Given the description of an element on the screen output the (x, y) to click on. 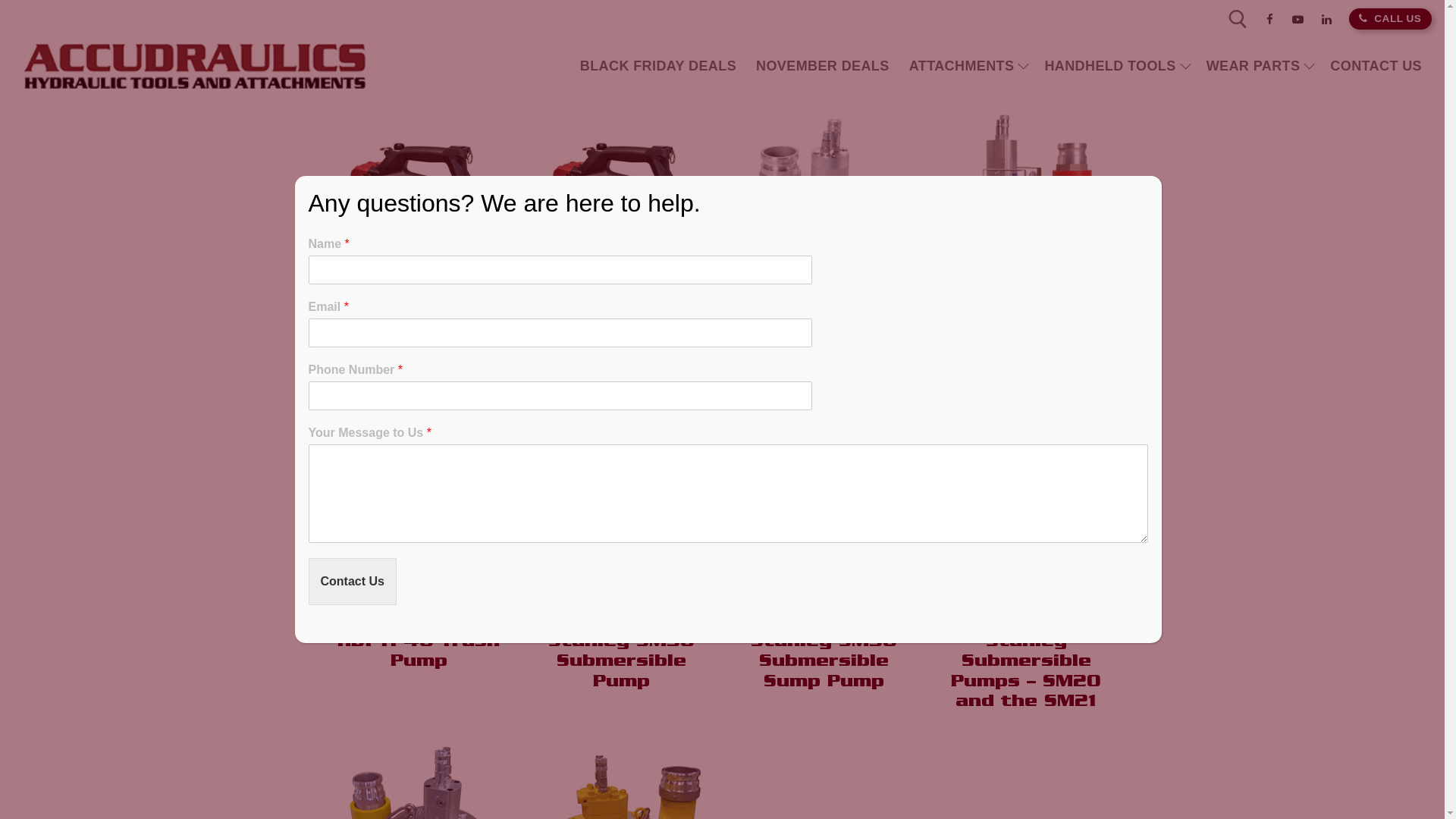
Facebook Element type: hover (1269, 19)
Youtube Element type: hover (1297, 19)
NOVEMBER DEALS Element type: text (811, 65)
CONTACT US Element type: text (1364, 65)
ATTACHMENTS
  Element type: text (955, 65)
CALL US Element type: text (1378, 18)
HDI TP30 Trash Pump Element type: text (1025, 311)
LinkedIn Element type: hover (1326, 19)
HANDHELD TOOLS
  Element type: text (1103, 65)
WEAR PARTS
  Element type: text (1247, 65)
HDI TP40 Trash Pump Element type: text (418, 649)
Stanley SM50 Submersible Pump Element type: text (620, 659)
HDI SP30 Submersible Pump Element type: text (823, 321)
Stanley SM50 Submersible Sump Pump Element type: text (823, 659)
BLACK FRIDAY DEALS Element type: text (646, 65)
